Given the description of an element on the screen output the (x, y) to click on. 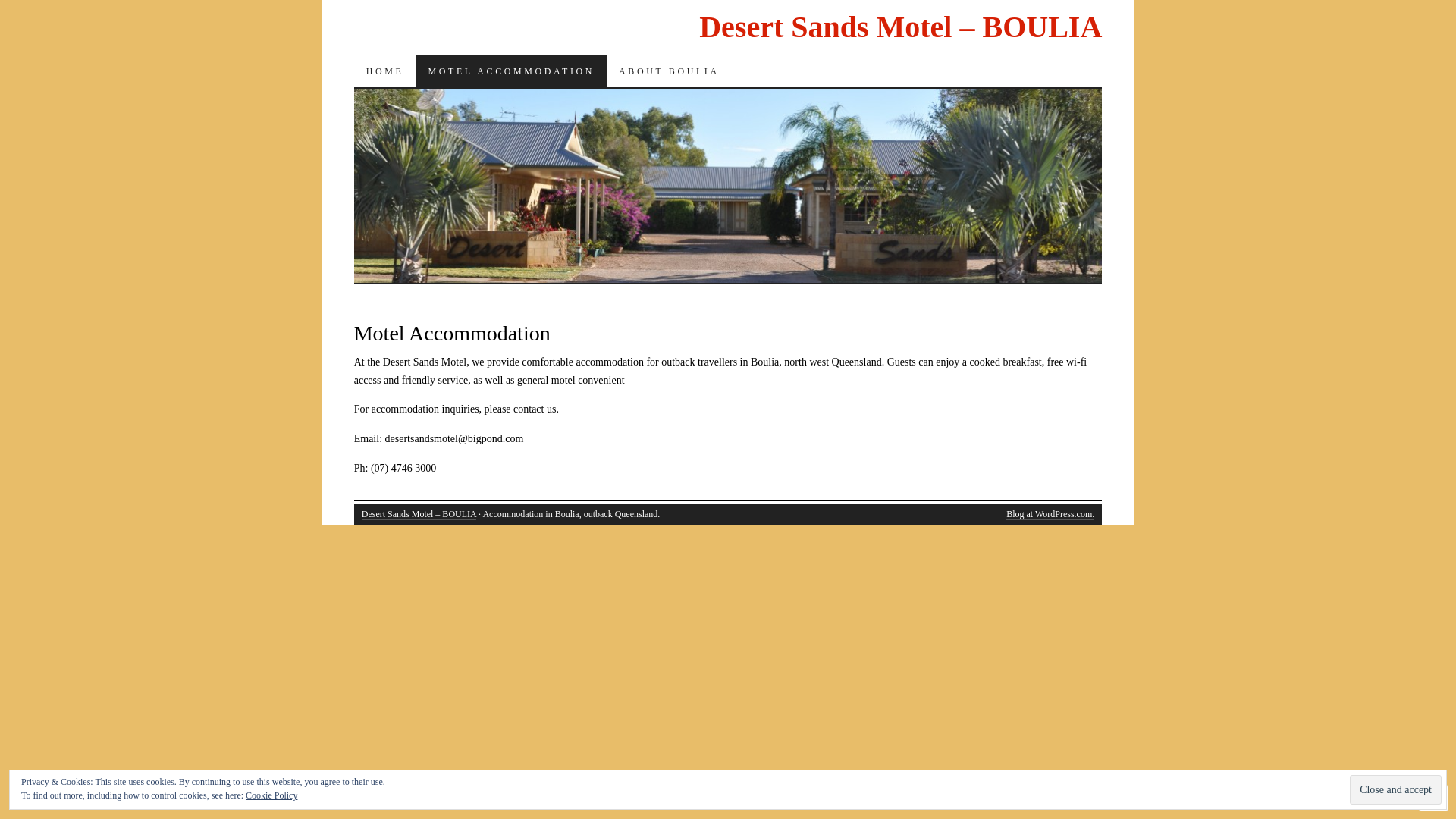
Cookie Policy Element type: text (271, 795)
Close and accept Element type: text (1395, 789)
HOME Element type: text (385, 71)
MOTEL ACCOMMODATION Element type: text (510, 71)
Blog at WordPress.com. Element type: text (1050, 514)
ABOUT BOULIA Element type: text (668, 71)
